Given the description of an element on the screen output the (x, y) to click on. 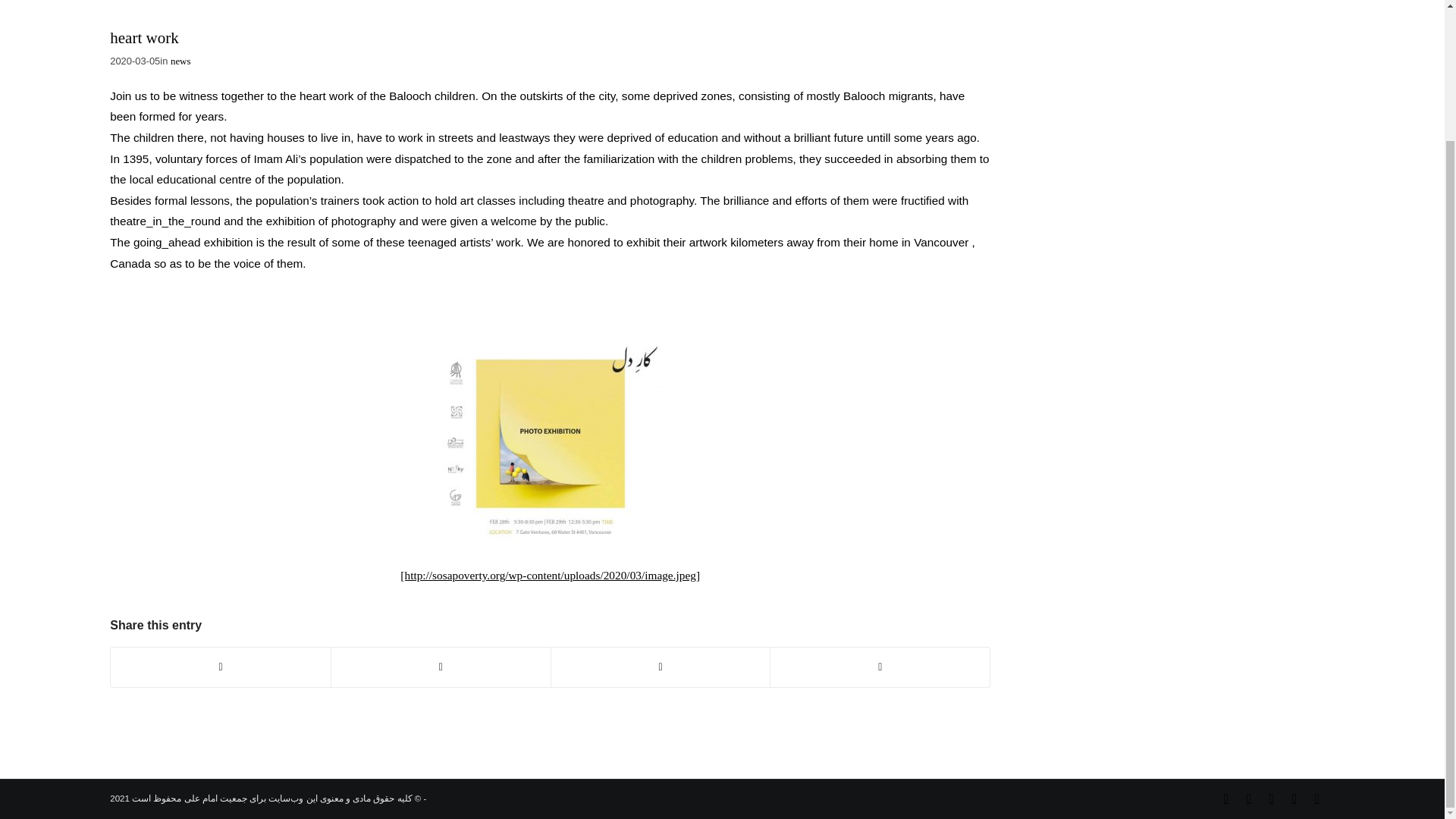
heart work (143, 37)
news (180, 60)
Permanent Link: heart work (143, 37)
Instagram (1248, 798)
Twitter (1225, 798)
Behance (1294, 798)
Facebook (1271, 798)
Youtube (1316, 798)
